Given the description of an element on the screen output the (x, y) to click on. 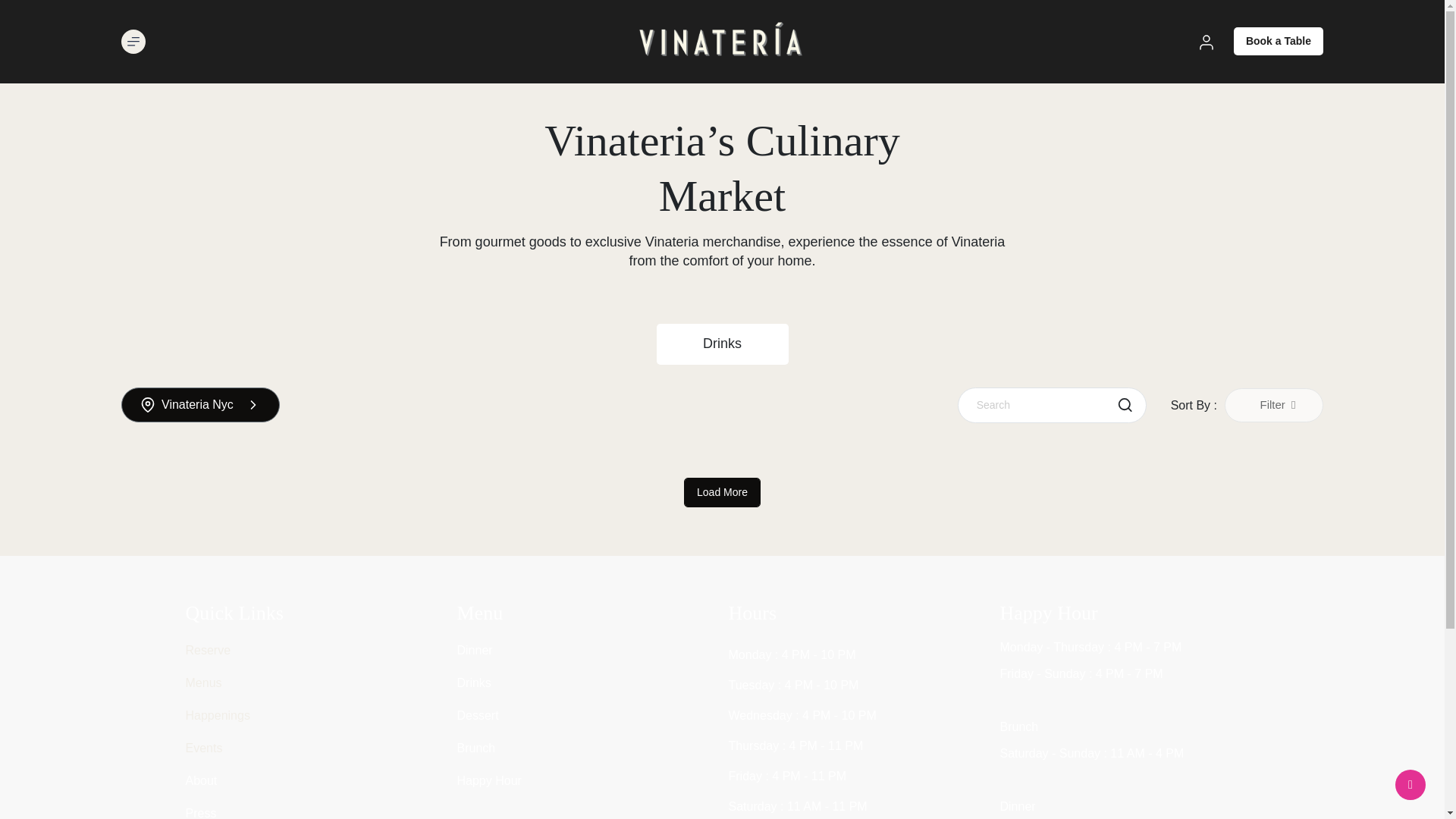
Vinateria Nyc (199, 404)
Drinks (722, 343)
Filter (1273, 405)
Reserve (207, 649)
Load More (722, 491)
Book a Table (1278, 41)
Menus (202, 682)
